Given the description of an element on the screen output the (x, y) to click on. 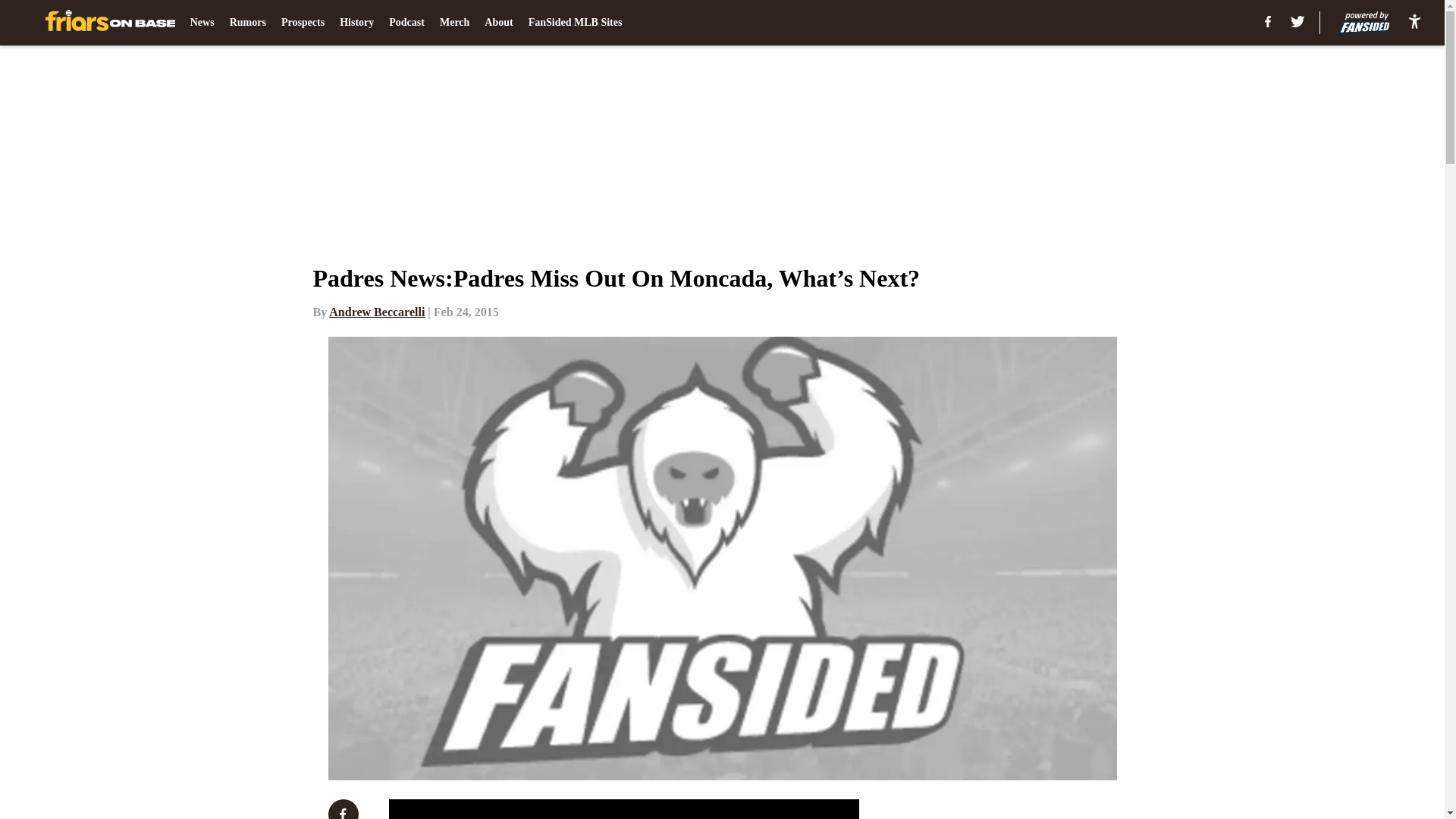
Podcast (406, 22)
Rumors (248, 22)
History (356, 22)
Prospects (302, 22)
Merch (453, 22)
News (202, 22)
FanSided MLB Sites (575, 22)
About (498, 22)
Andrew Beccarelli (377, 311)
